Given the description of an element on the screen output the (x, y) to click on. 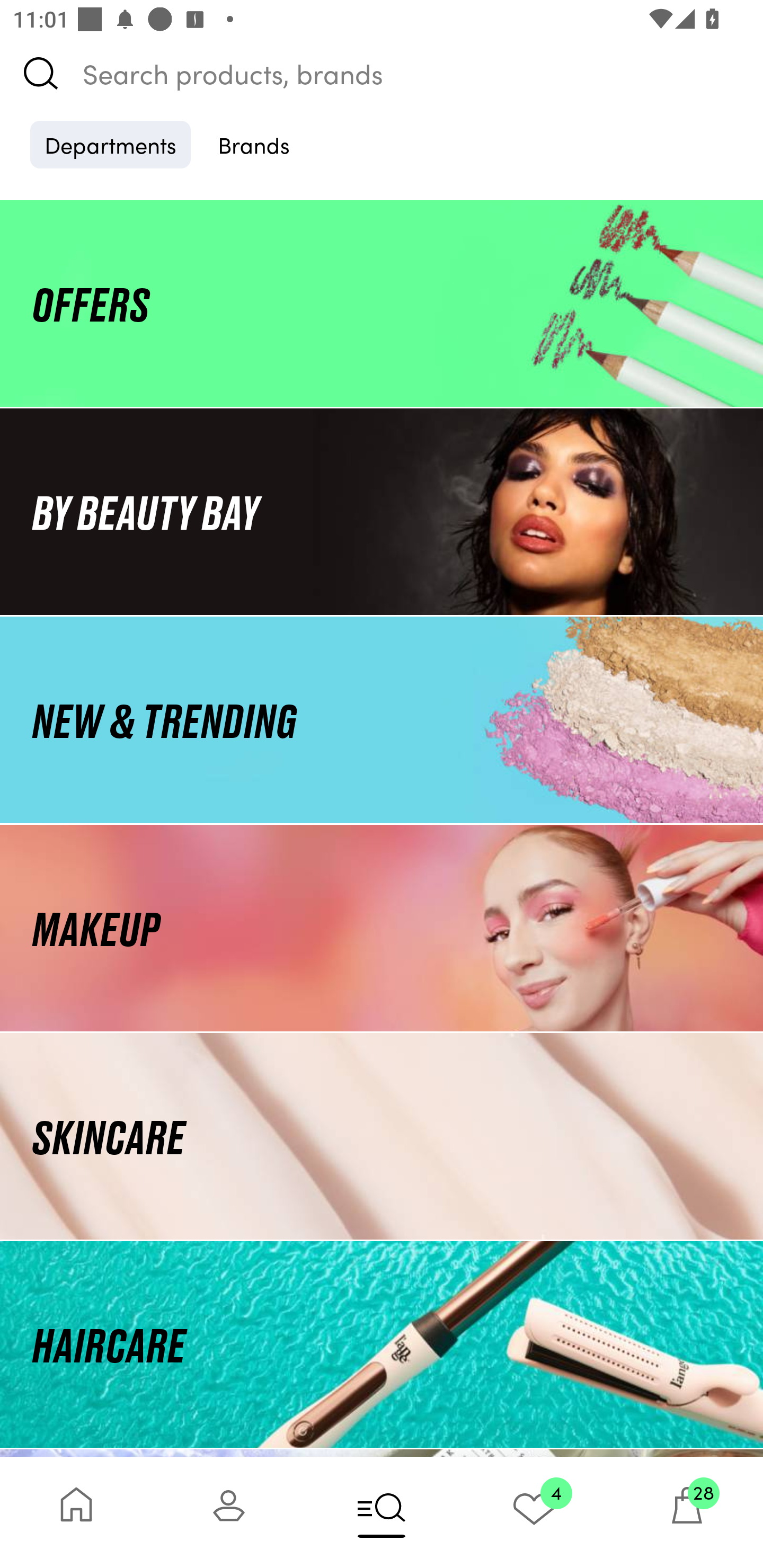
Search products, brands (381, 72)
Departments (110, 143)
Brands (253, 143)
OFFERS (381, 303)
BY BEAUTY BAY (381, 510)
NEW & TRENDING (381, 719)
MAKEUP (381, 927)
SKINCARE (381, 1136)
HAIRCARE (381, 1344)
4 (533, 1512)
28 (686, 1512)
